Given the description of an element on the screen output the (x, y) to click on. 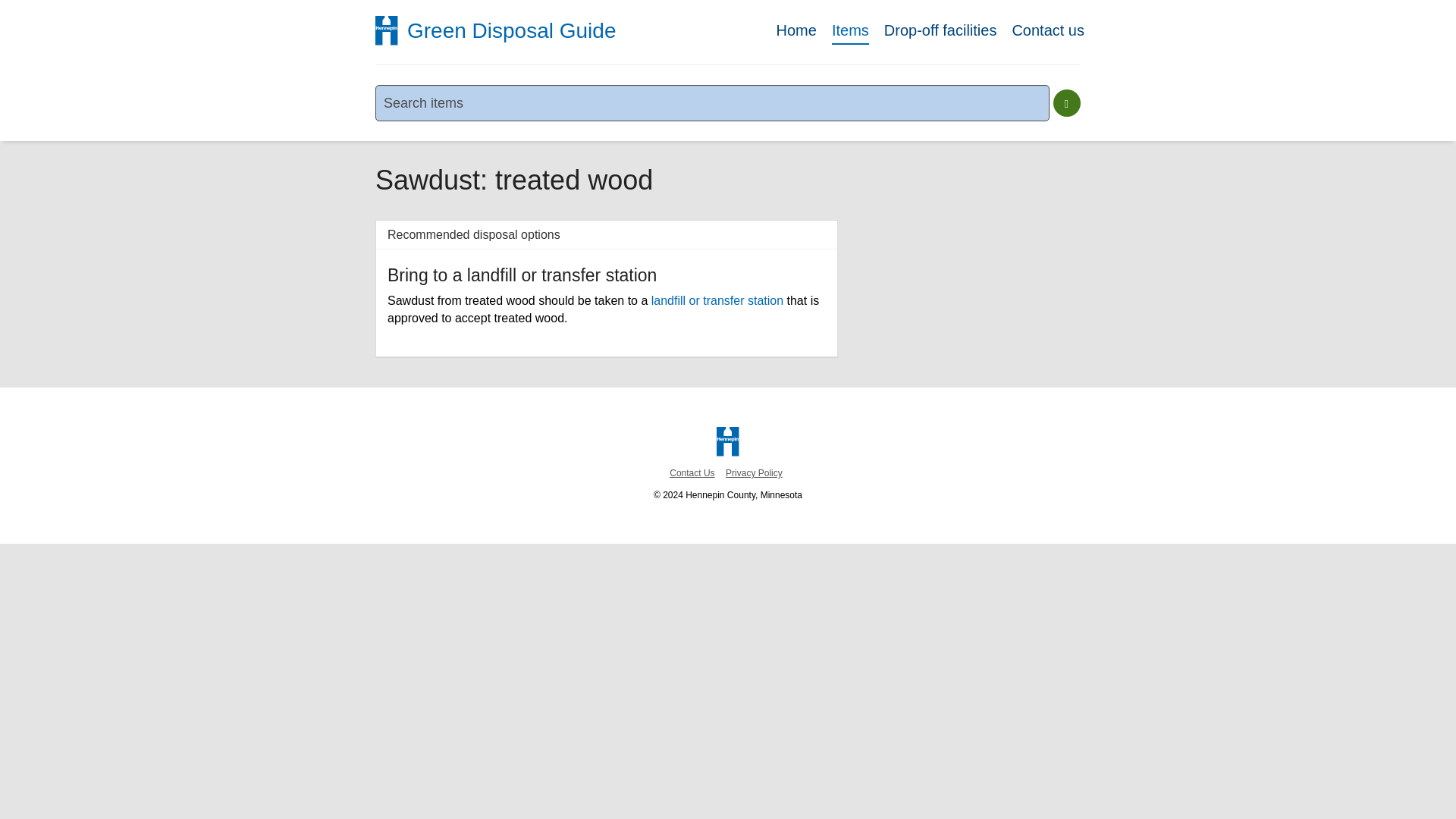
Items (850, 33)
Contact us (1047, 32)
Home (796, 32)
Contact Us (691, 472)
Drop-off facilities (940, 32)
landfill or transfer station (716, 300)
Privacy Policy (754, 472)
Green Disposal Guide (507, 26)
search (1066, 103)
